Given the description of an element on the screen output the (x, y) to click on. 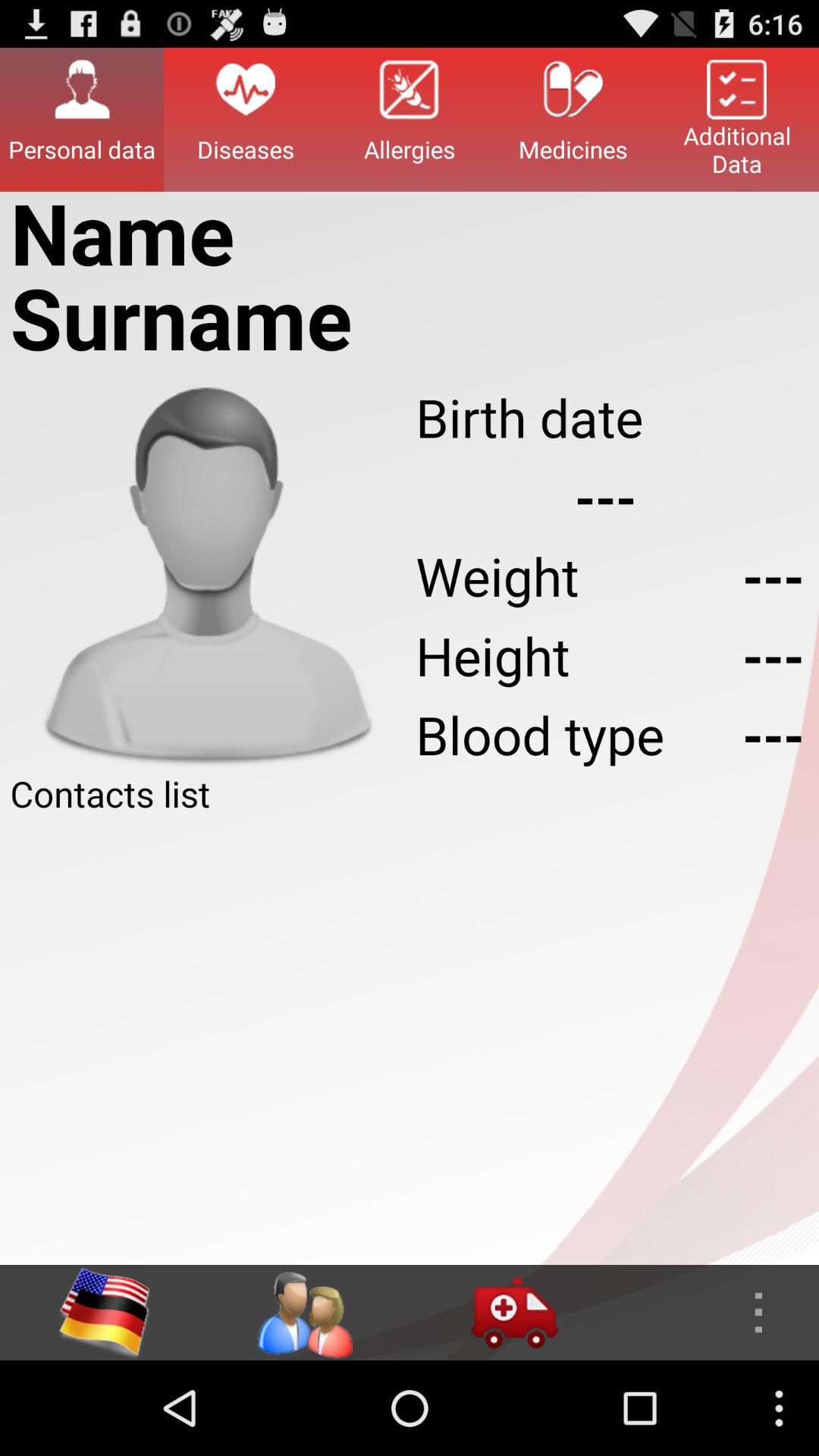
open the icon next to medicines button (409, 119)
